Given the description of an element on the screen output the (x, y) to click on. 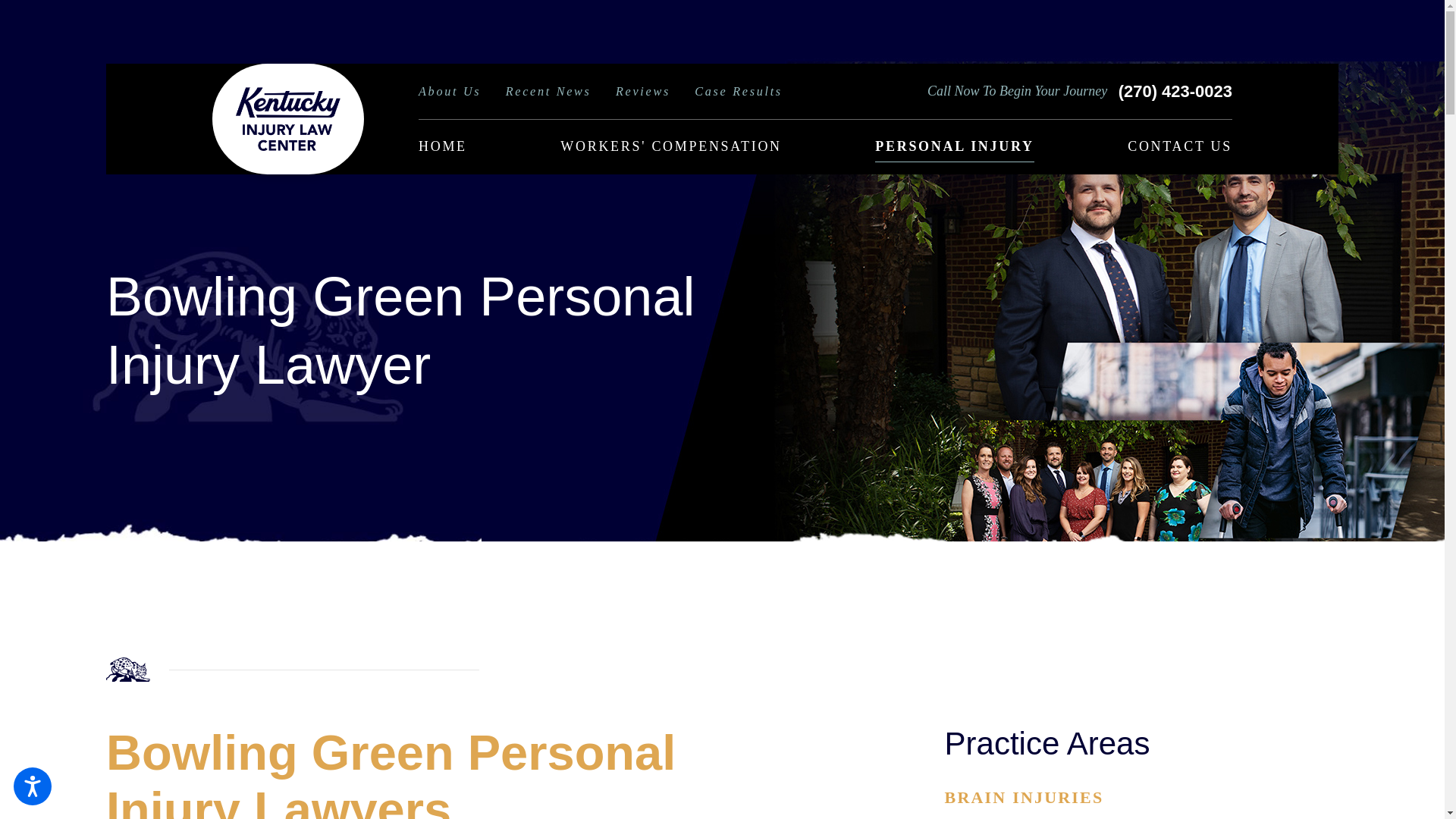
HOME (443, 146)
Reviews (642, 96)
Case Results (738, 96)
PERSONAL INJURY (954, 146)
Kentucky Injury Law Center (287, 118)
Open the accessibility options menu (31, 786)
CONTACT US (1178, 146)
WORKERS' COMPENSATION (670, 146)
About Us (449, 96)
Recent News (548, 96)
